Given the description of an element on the screen output the (x, y) to click on. 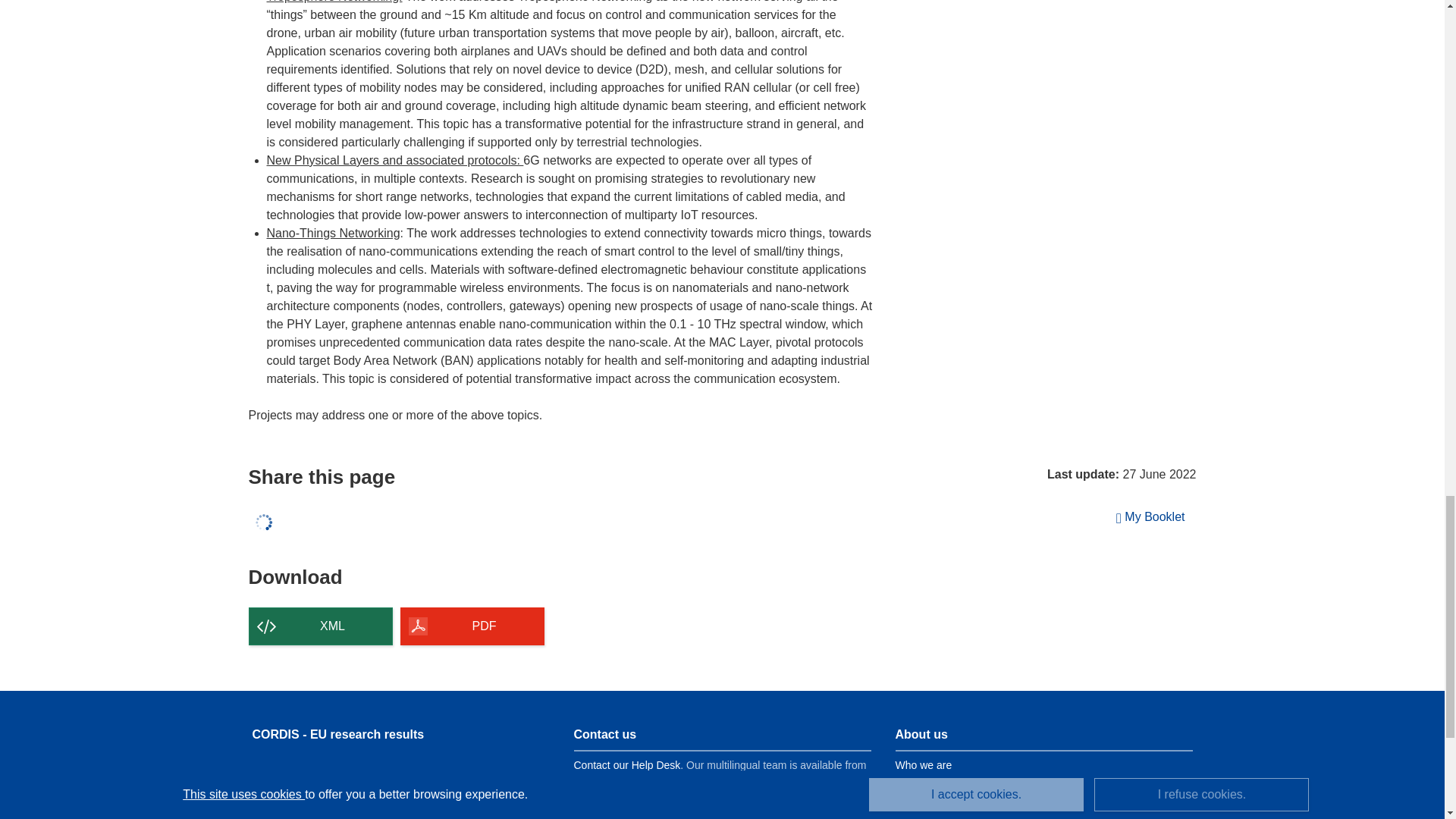
Contact our Help Desk (626, 765)
XML (320, 626)
My Booklet (1150, 517)
Publication Office of the European Union (383, 782)
PDF (472, 626)
